Given the description of an element on the screen output the (x, y) to click on. 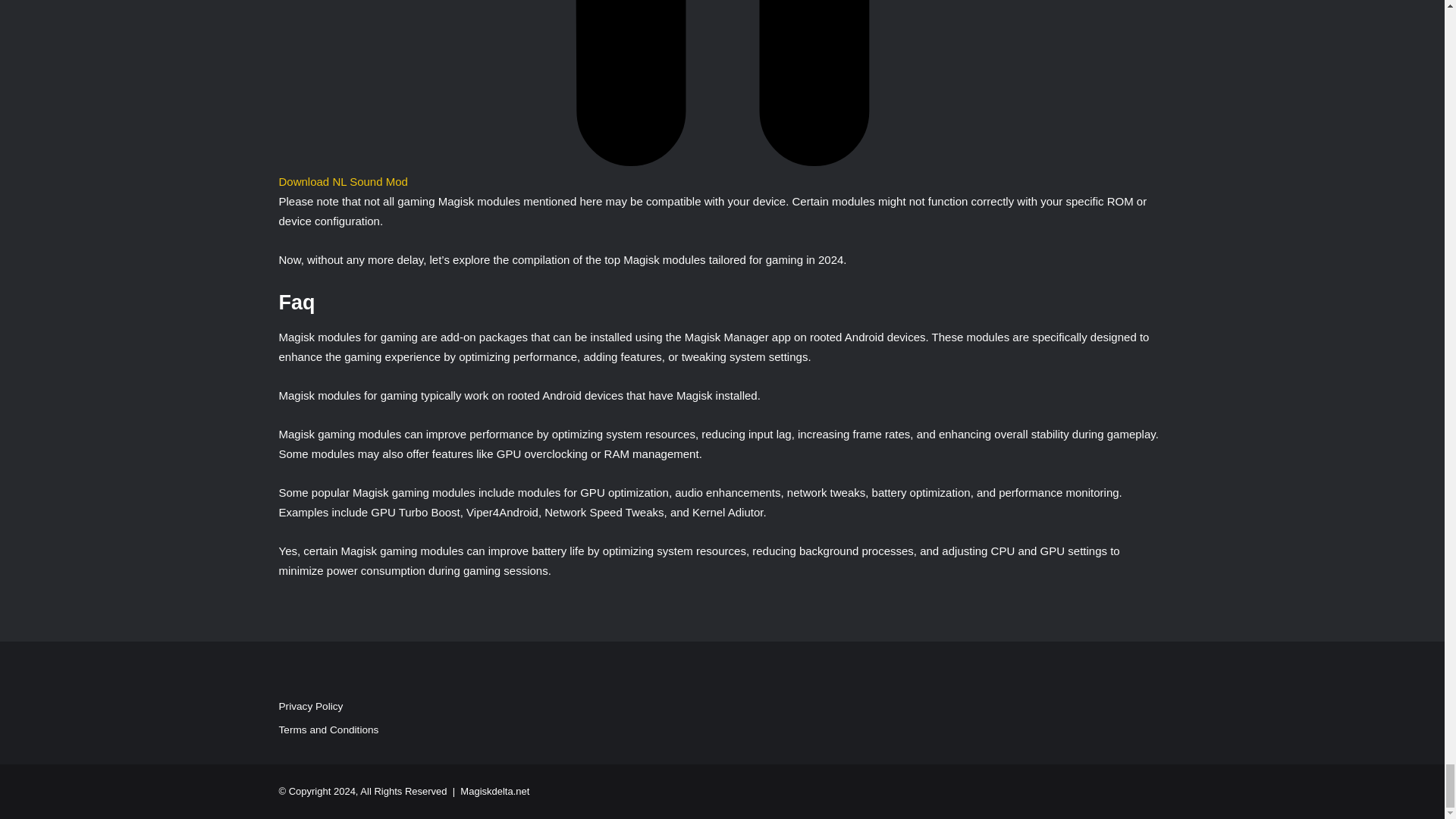
Privacy Policy (311, 706)
Terms and Conditions (328, 729)
Download NL Sound Mod (722, 171)
